Given the description of an element on the screen output the (x, y) to click on. 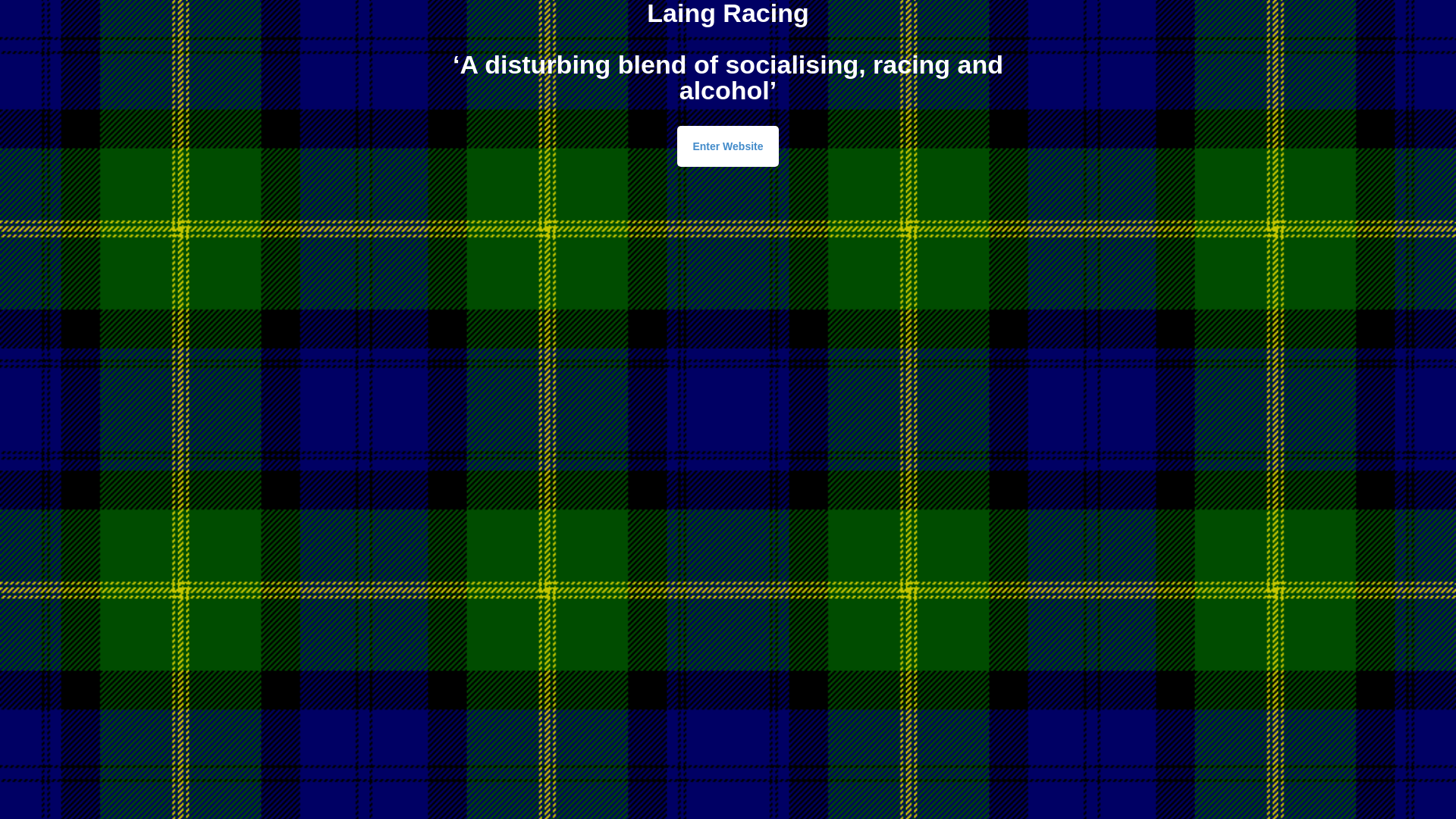
Enter Website Element type: text (727, 145)
